Given the description of an element on the screen output the (x, y) to click on. 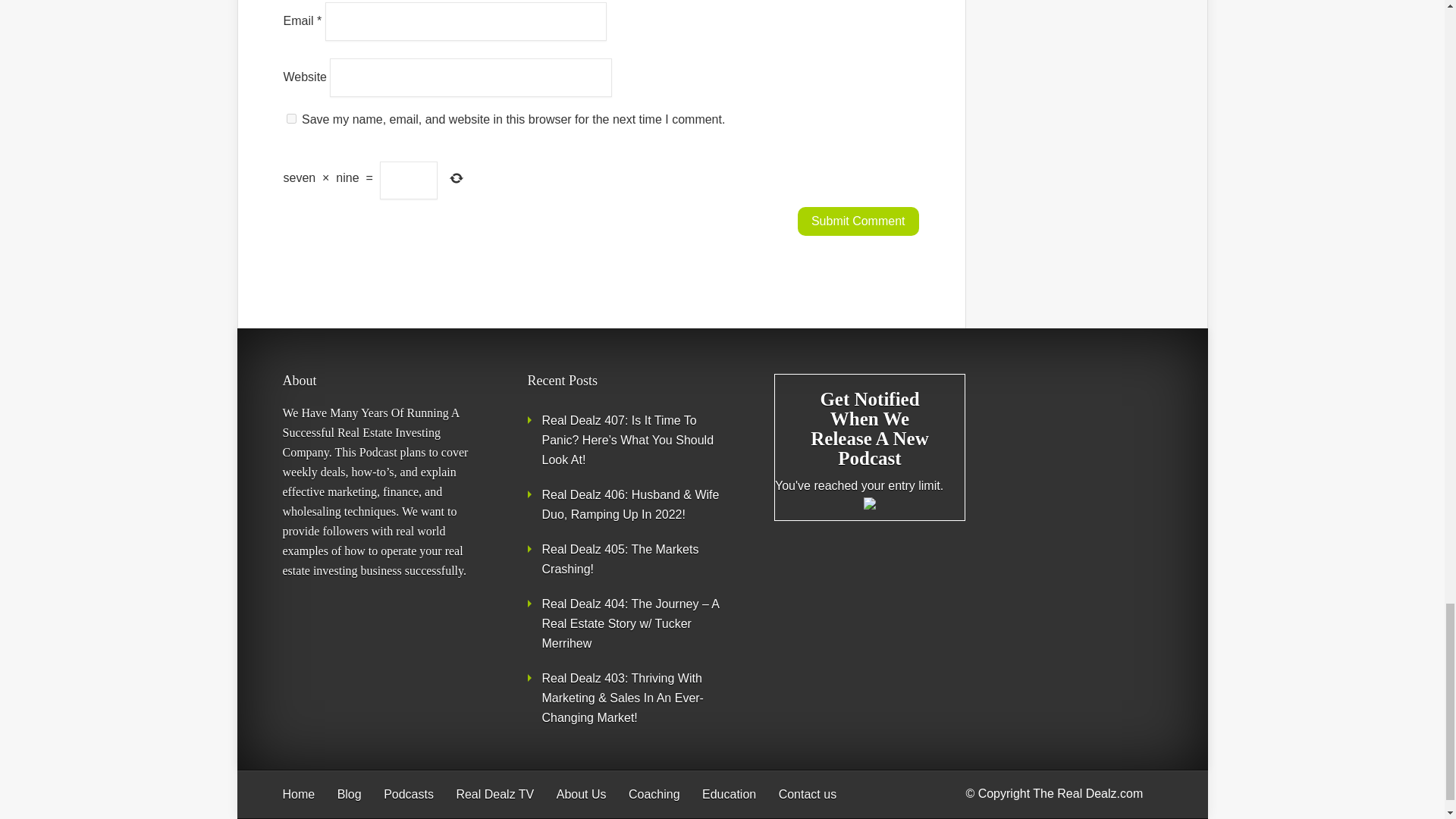
yes (291, 118)
Submit Comment (857, 221)
